Given the description of an element on the screen output the (x, y) to click on. 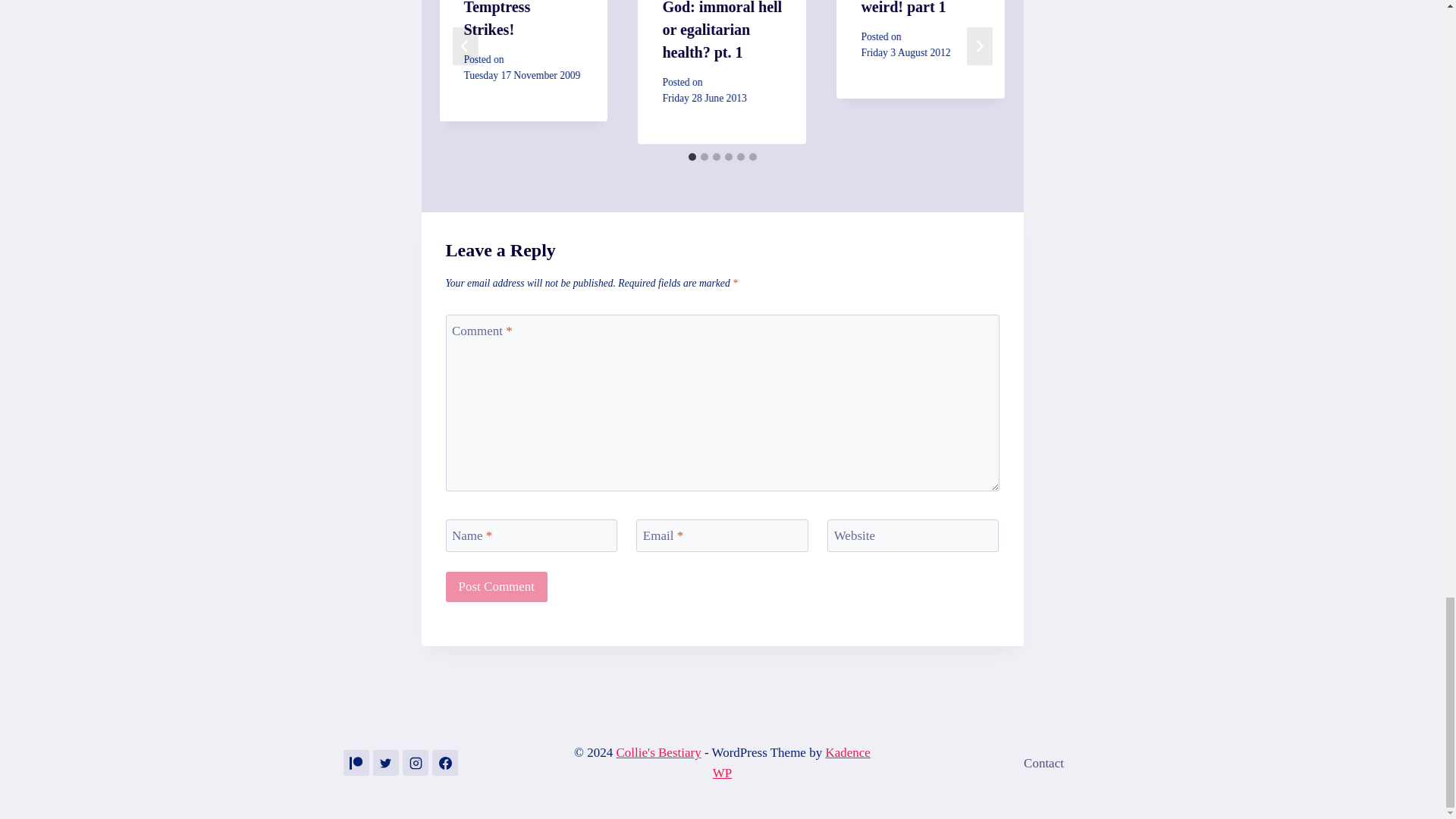
Post Comment (496, 586)
